Given the description of an element on the screen output the (x, y) to click on. 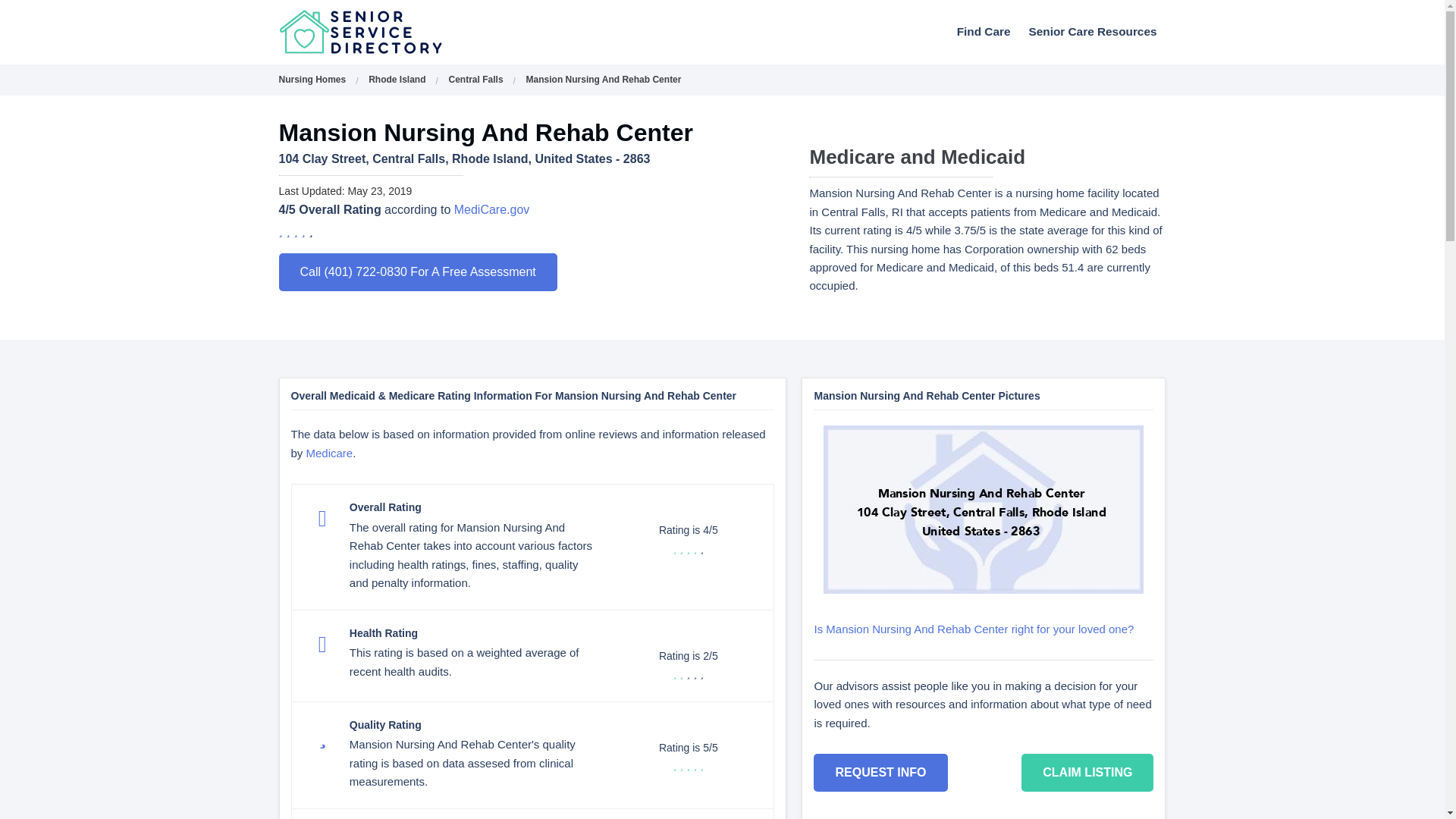
Central Falls (475, 80)
Senior Service Directory (400, 31)
Find Care (983, 31)
MediCare.gov (491, 209)
Medicare (329, 452)
Senior Care Resources (1092, 31)
REQUEST INFO (880, 772)
CLAIM LISTING (1087, 772)
Mansion Nursing And Rehab Center (603, 80)
Nursing Homes (312, 80)
Rhode Island (396, 80)
